Given the description of an element on the screen output the (x, y) to click on. 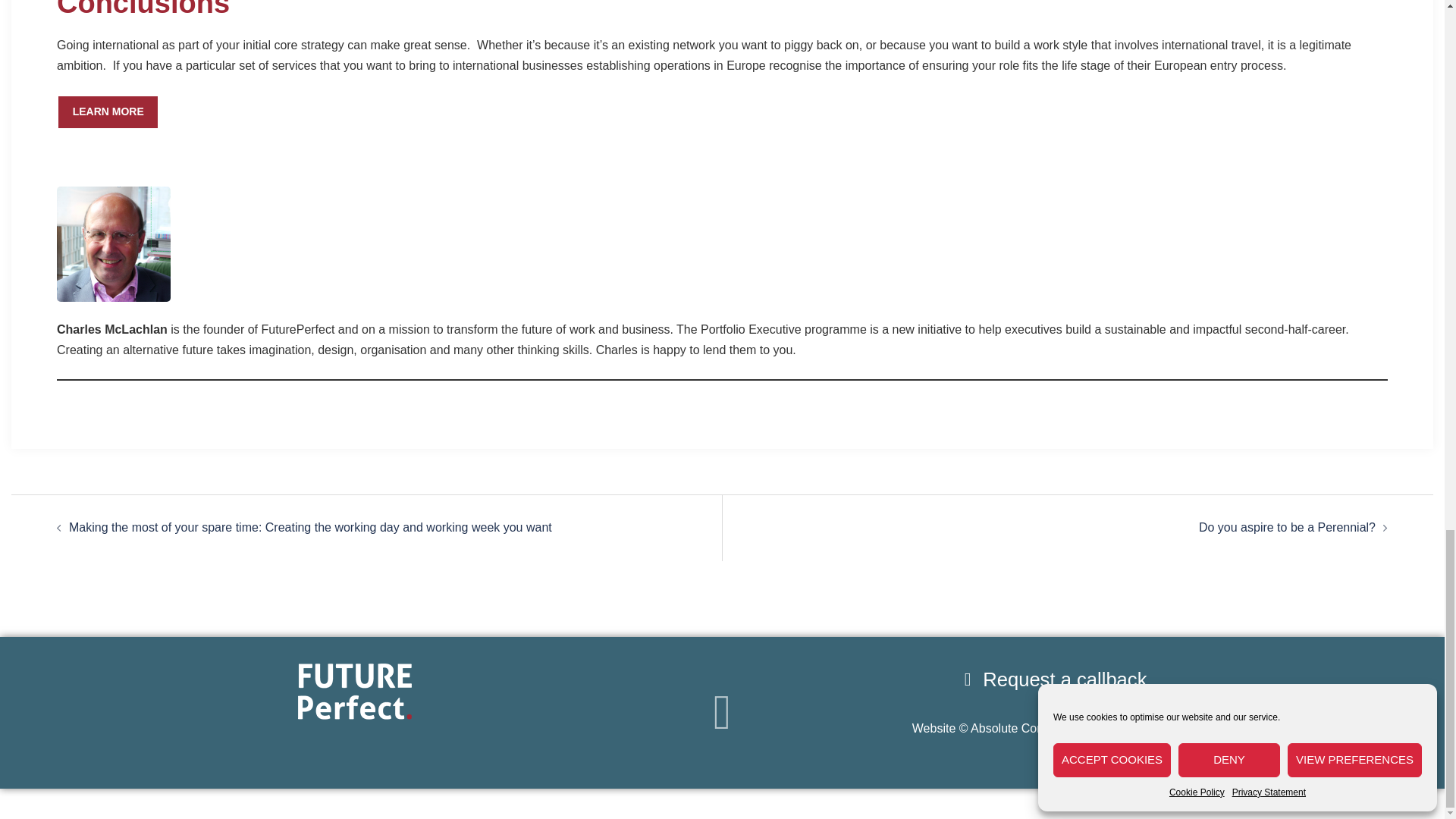
Request a callback (1051, 679)
LEARN MORE (107, 112)
Do you aspire to be a Perennial? (1286, 526)
future-perfect (353, 691)
